Given the description of an element on the screen output the (x, y) to click on. 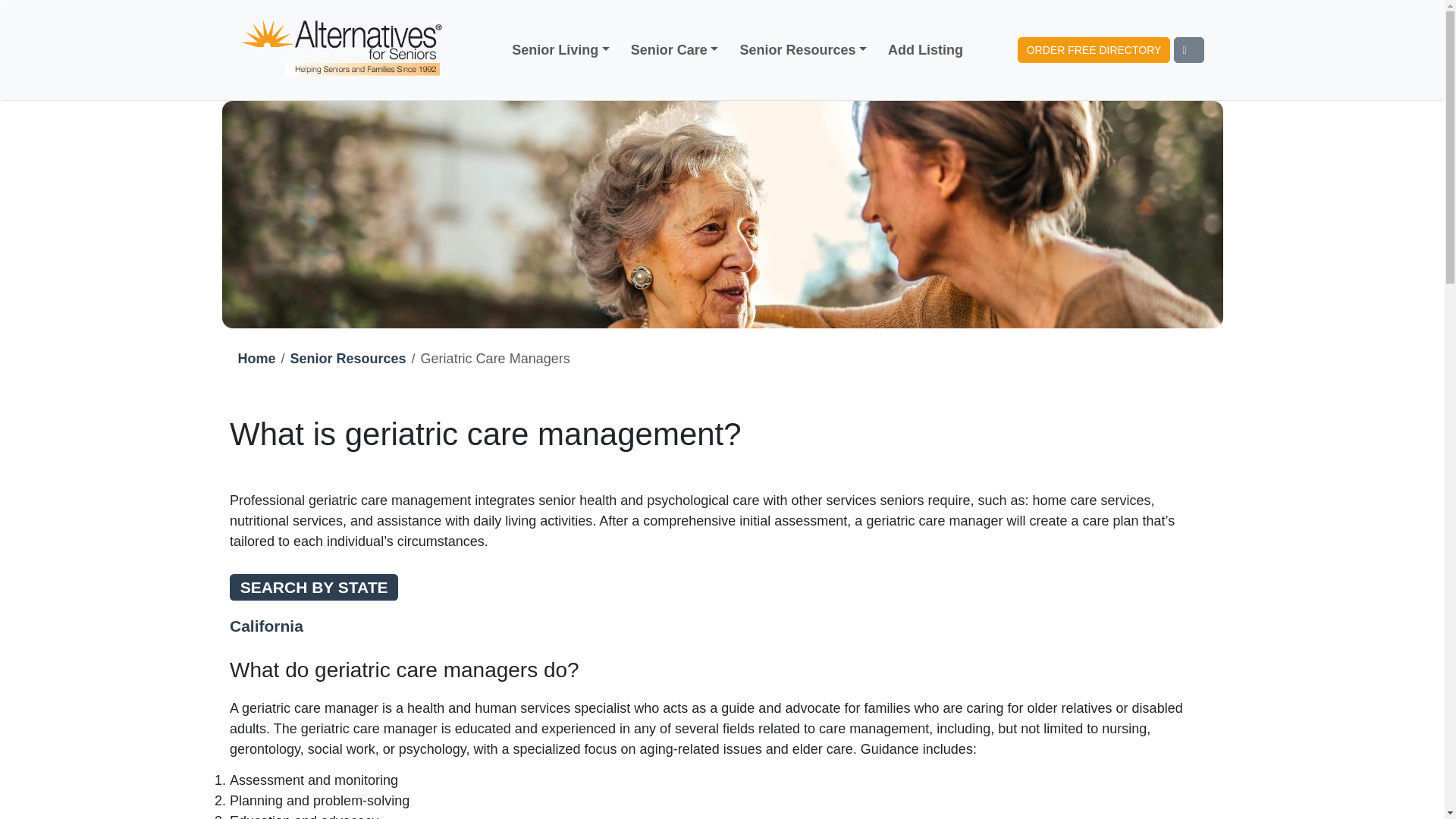
California (266, 625)
Senior Resources (347, 357)
Senior Resources (802, 50)
ORDER FREE DIRECTORY (1093, 49)
Alternatives For Seniors logo (343, 49)
Senior Living (560, 50)
Add Listing (925, 50)
Home (257, 357)
Senior Care (674, 50)
Saved (1188, 49)
